Given the description of an element on the screen output the (x, y) to click on. 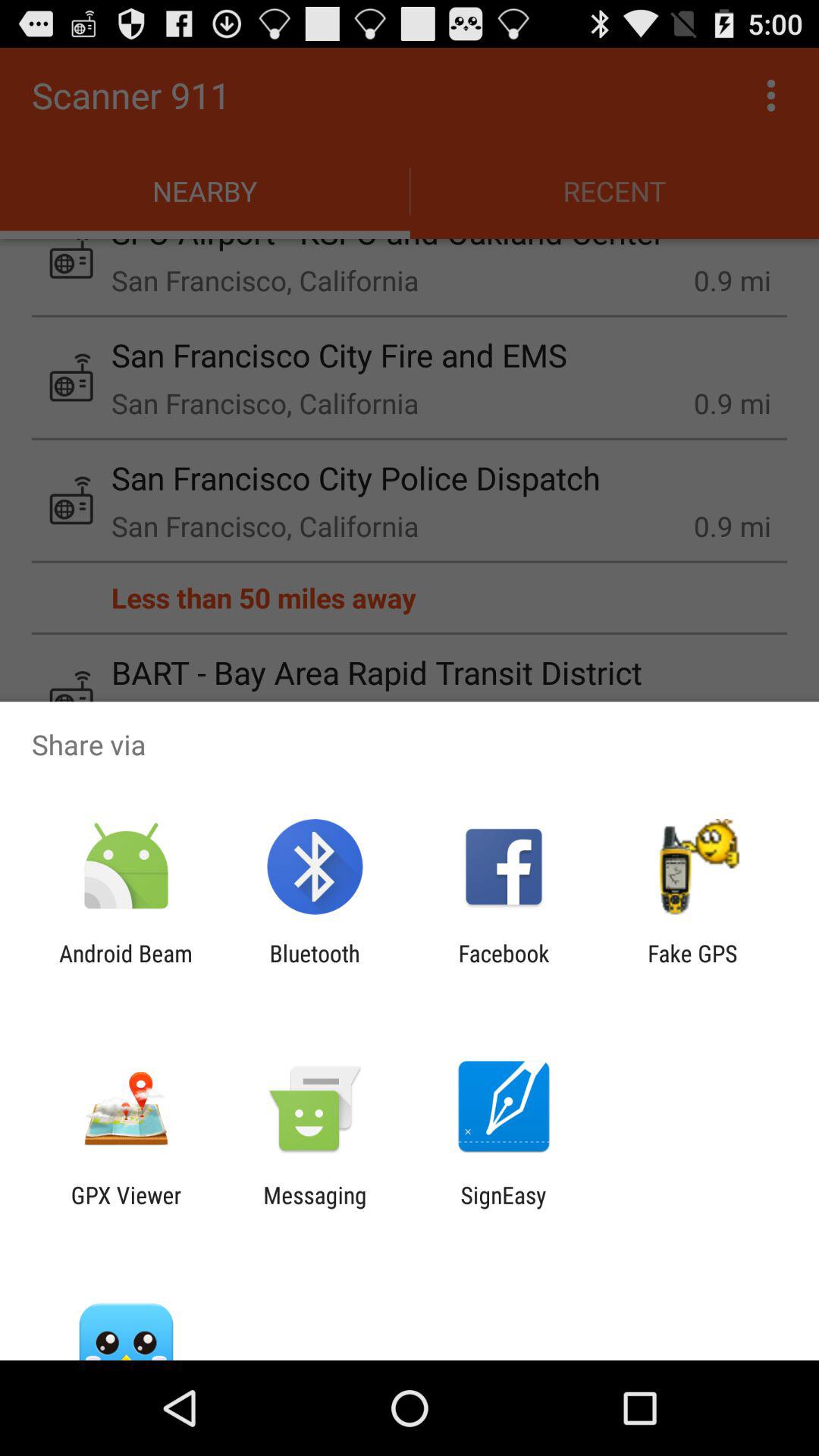
jump until the messaging icon (314, 1208)
